Given the description of an element on the screen output the (x, y) to click on. 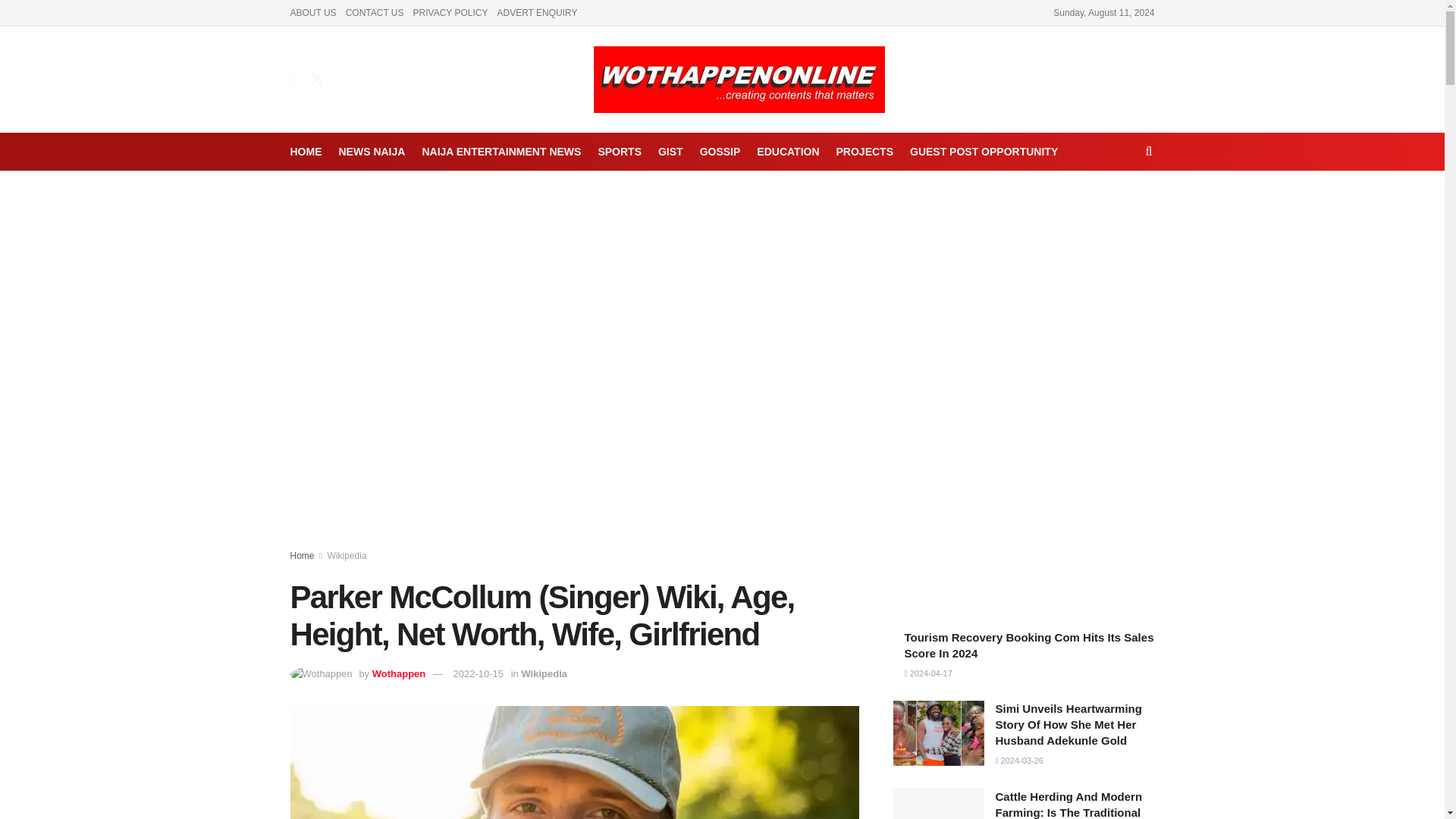
NEWS NAIJA (370, 151)
GOSSIP (720, 151)
ABOUT US (312, 12)
PRIVACY POLICY (450, 12)
CONTACT US (375, 12)
ADVERT ENQUIRY (536, 12)
PROJECTS (864, 151)
NAIJA ENTERTAINMENT NEWS (501, 151)
HOME (305, 151)
GUEST POST OPPORTUNITY (984, 151)
